Given the description of an element on the screen output the (x, y) to click on. 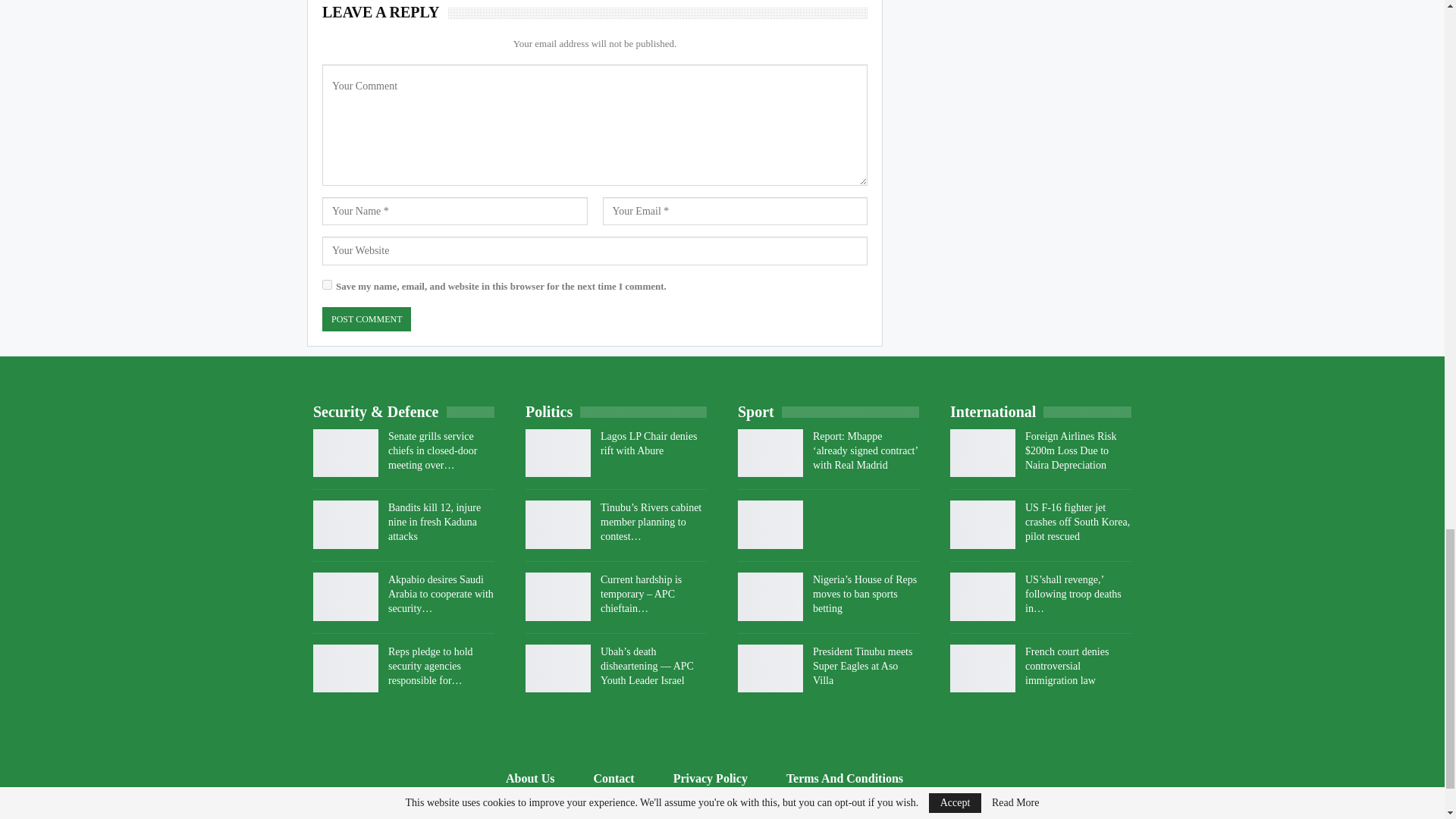
yes (326, 284)
Post Comment (365, 319)
